Given the description of an element on the screen output the (x, y) to click on. 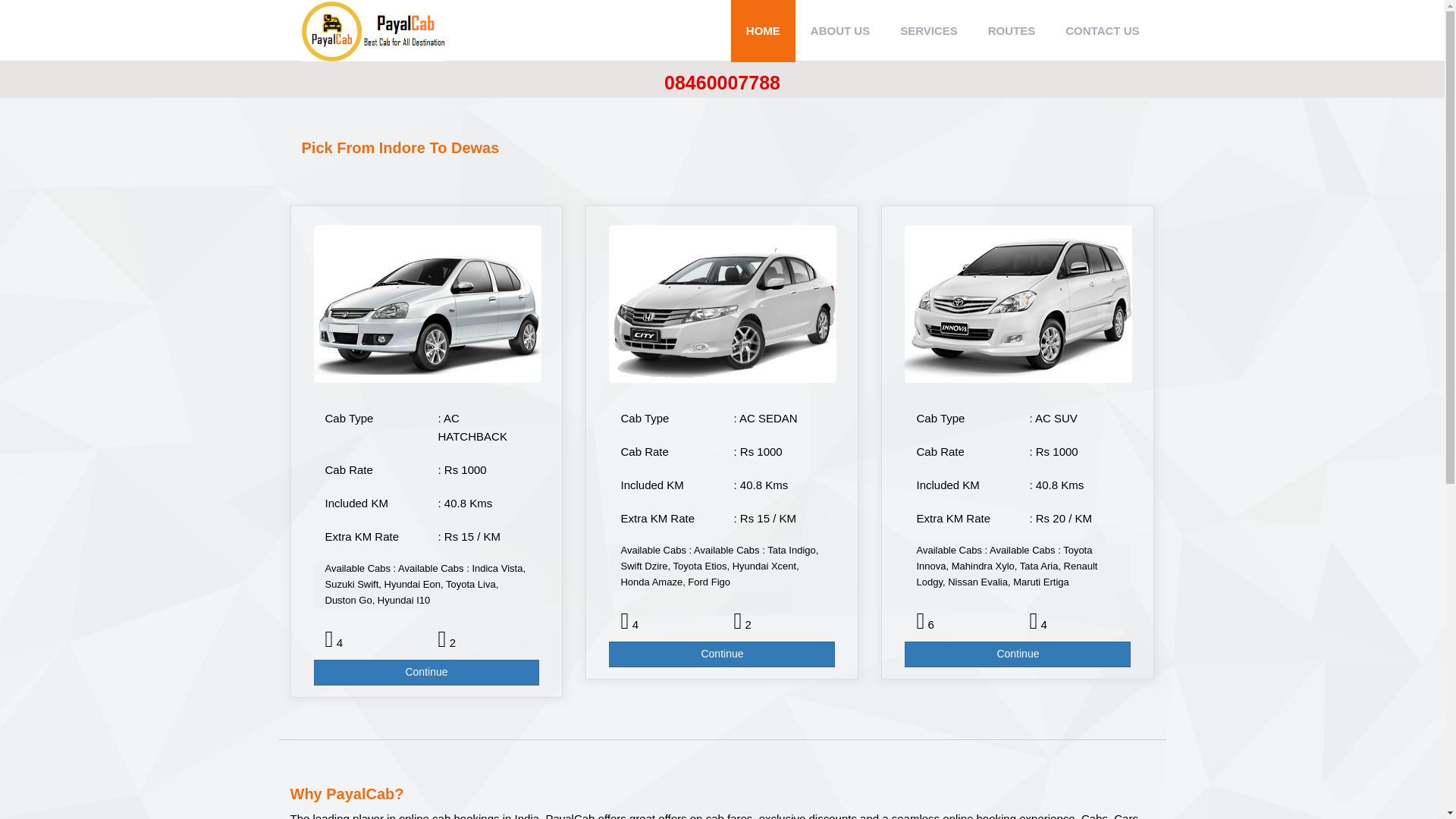
ABOUT US (839, 31)
Continue (427, 672)
HOME (762, 31)
CONTACT US (1101, 31)
Continue (1017, 654)
08460007788 (721, 82)
ROUTES (1011, 31)
Continue (721, 654)
SERVICES (928, 31)
